Given the description of an element on the screen output the (x, y) to click on. 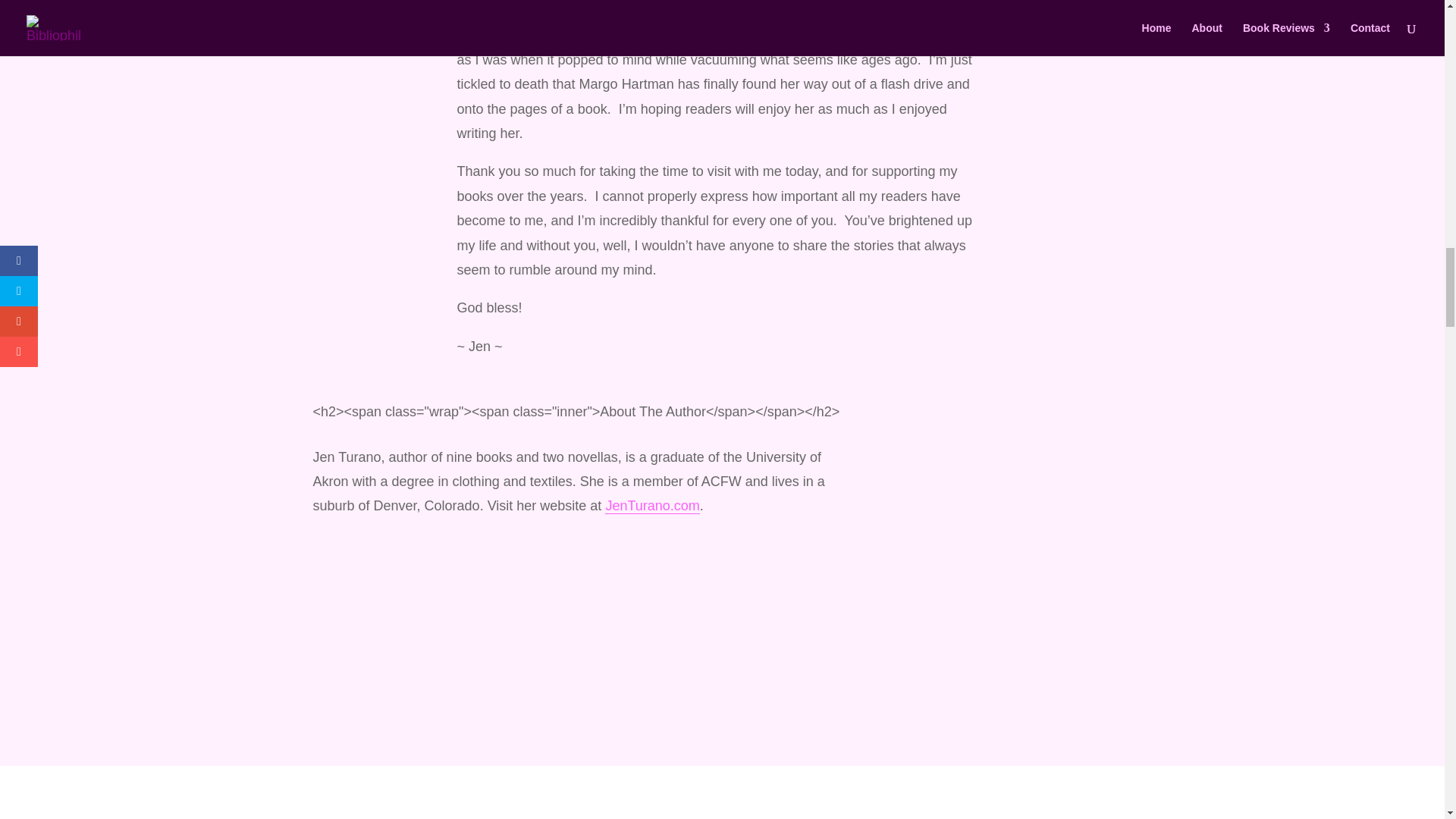
JenTurano.com (651, 505)
